Given the description of an element on the screen output the (x, y) to click on. 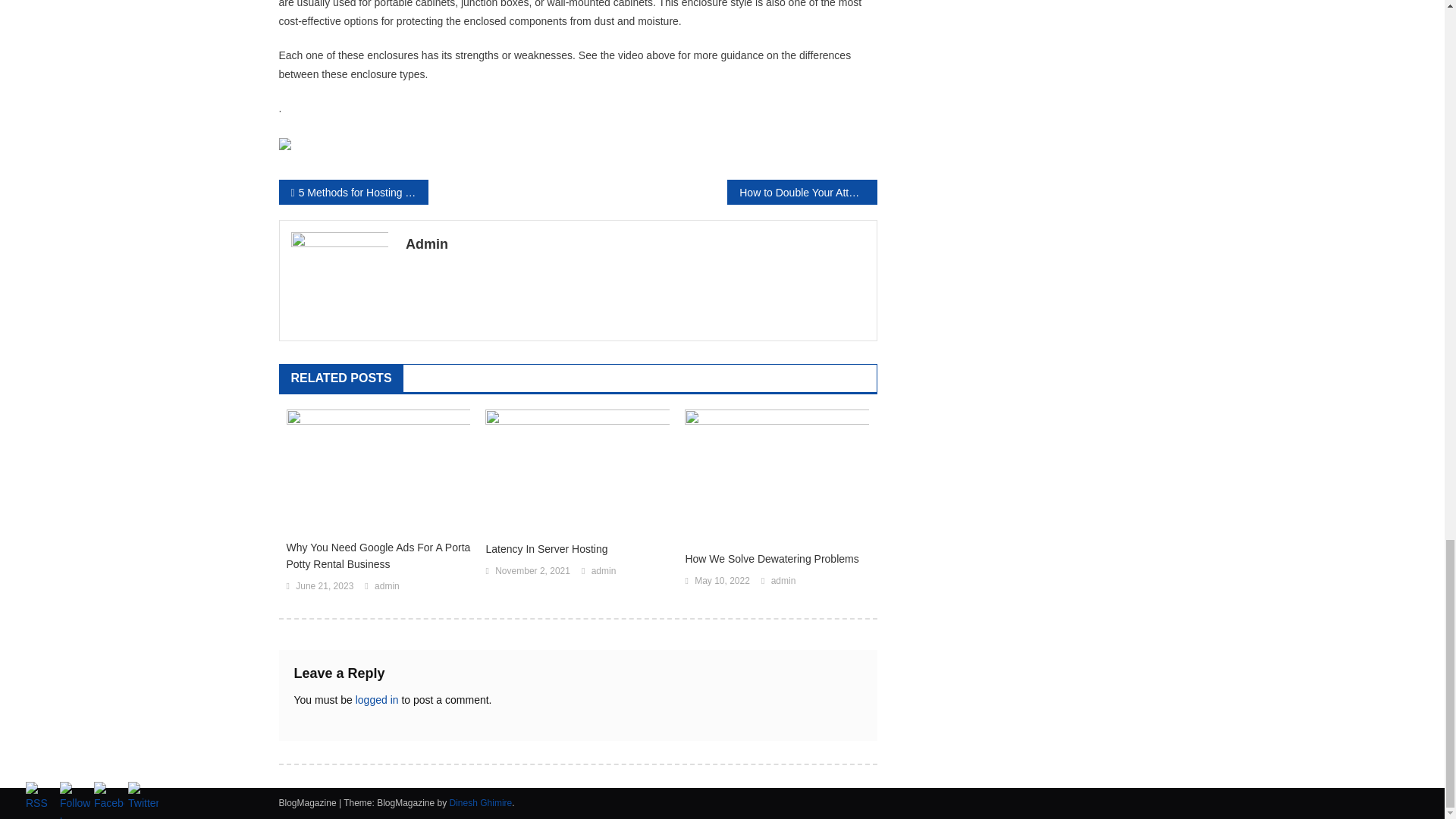
June 21, 2023 (324, 586)
5 Methods for Hosting Your Own Minecraft Servers (353, 191)
Twitter (143, 797)
logged in (376, 699)
May 10, 2022 (721, 581)
admin (386, 586)
November 2, 2021 (532, 571)
How We Solve Dewatering Problems (776, 558)
Latency In Server Hosting (576, 548)
RSS (41, 797)
How to Double Your Attorney SEO Traffic (801, 191)
admin (783, 581)
Facebook (108, 797)
admin (603, 571)
Why You Need Google Ads For A Porta Potty Rental Business (378, 555)
